Given the description of an element on the screen output the (x, y) to click on. 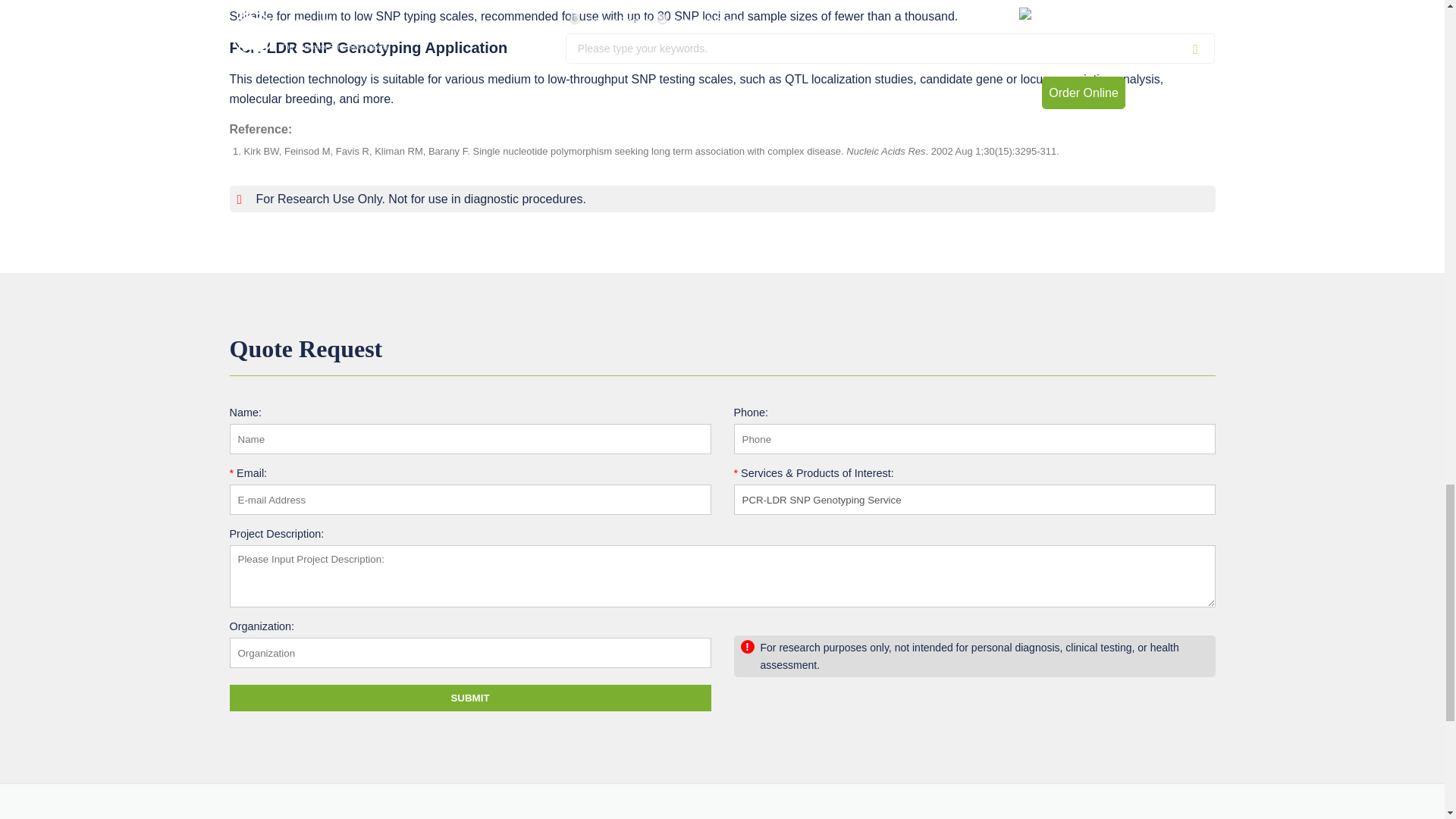
PCR-LDR SNP Genotyping Service (974, 499)
